Given the description of an element on the screen output the (x, y) to click on. 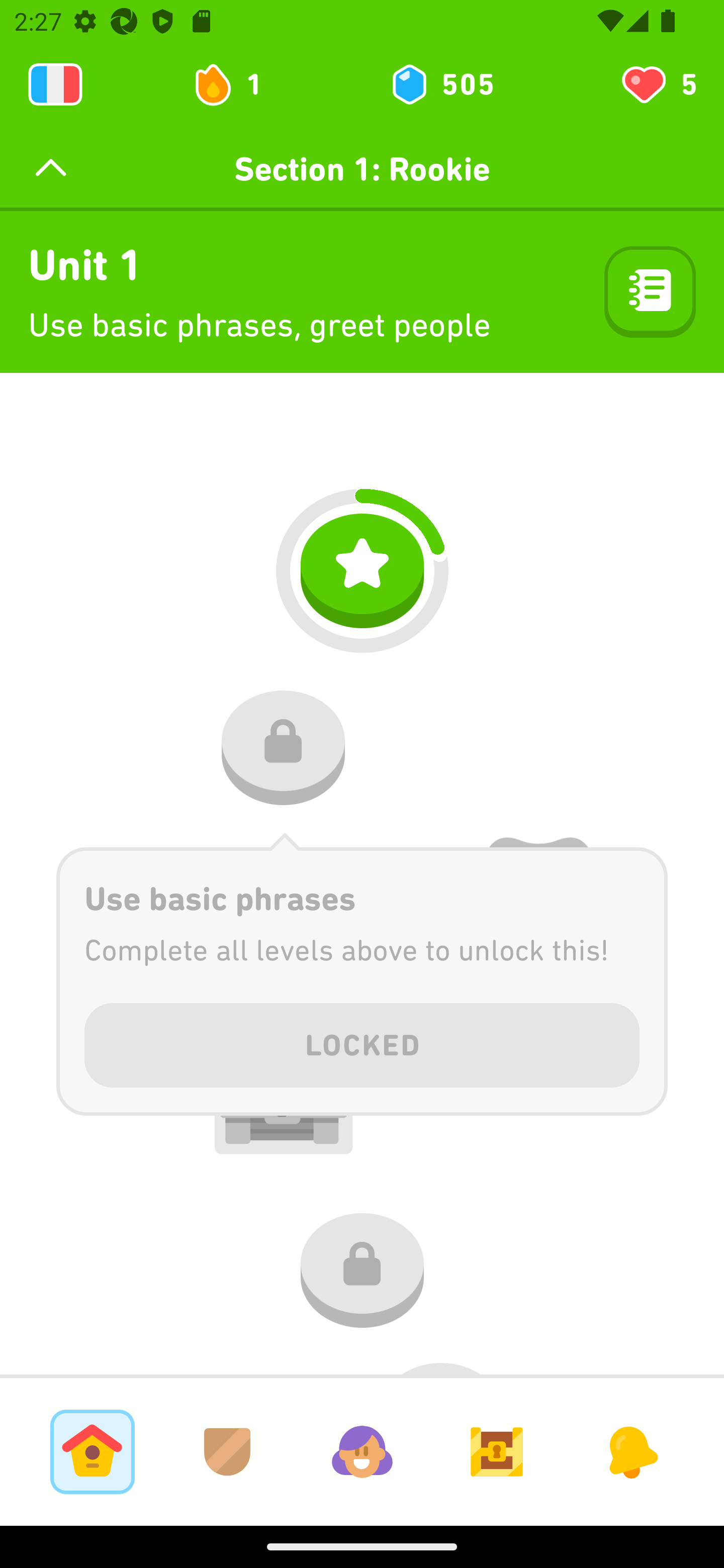
Learning 2131888976 (55, 84)
1 day streak 1 (236, 84)
505 (441, 84)
You have 5 hearts left 5 (657, 84)
Section 1: Rookie (362, 169)
LOCKED (361, 1041)
Learn Tab (91, 1451)
Leagues Tab (227, 1451)
Profile Tab (361, 1451)
Goals Tab (496, 1451)
News Tab (631, 1451)
